Given the description of an element on the screen output the (x, y) to click on. 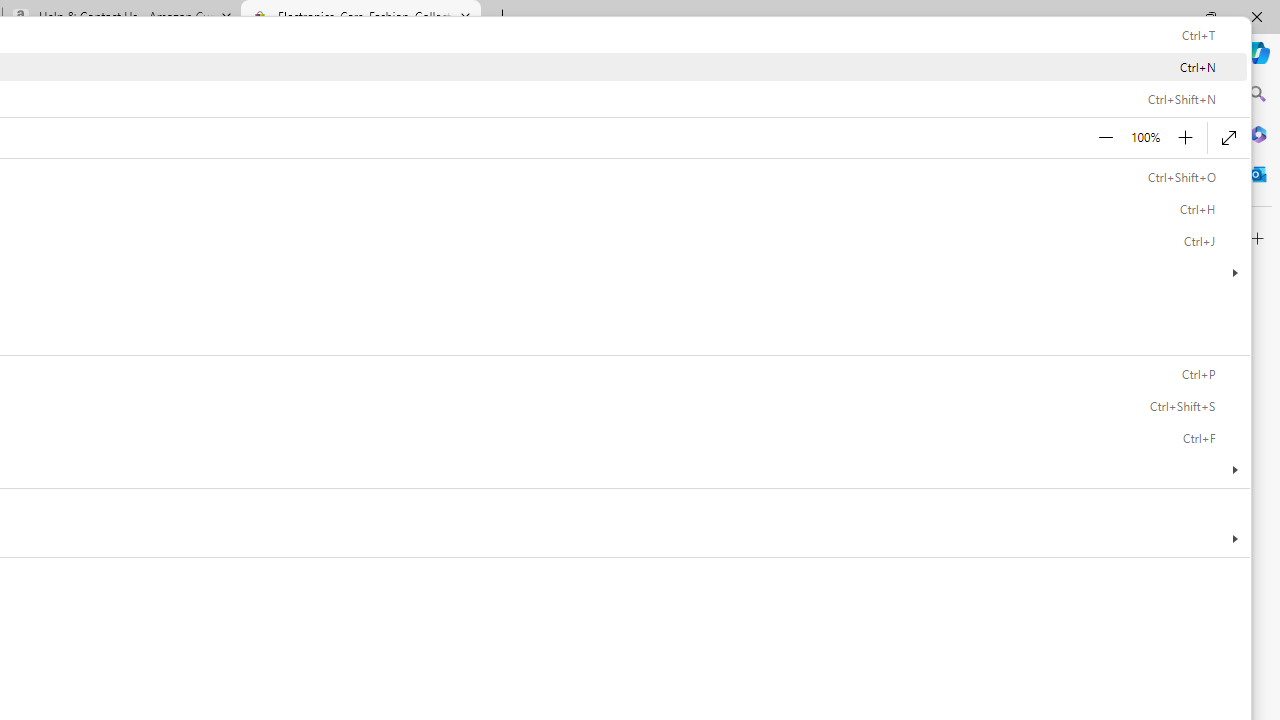
Select a category for search (264, 139)
Expand Cart (578, 86)
Enter full screen (F11) (1228, 137)
Home & GardenExpand: Home & Garden (310, 199)
Close Outlook pane (1258, 174)
Deals (399, 199)
This site has coupons! Shopping in Microsoft Edge (906, 53)
Deals (399, 198)
Your shopping cart (578, 86)
Ship to (231, 87)
